Given the description of an element on the screen output the (x, y) to click on. 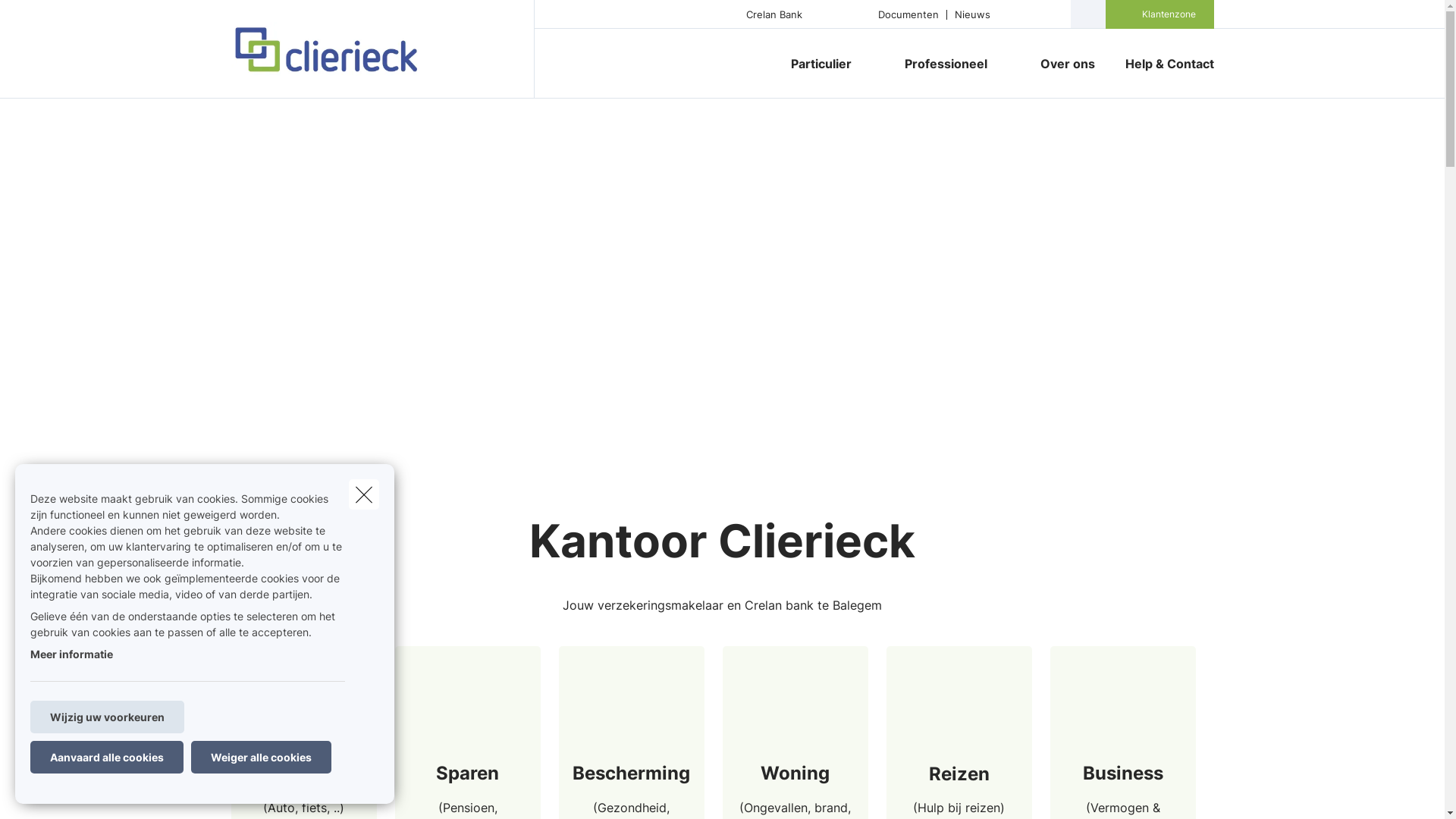
Meer informatie Element type: text (71, 653)
Aanvaard alle cookies Element type: text (106, 756)
Over ons Element type: text (1067, 63)
Professioneel Element type: text (939, 63)
Help & Contact Element type: text (1162, 63)
Reizen
(Hulp bij reizen) Element type: text (958, 790)
Wijzig uw voorkeuren Element type: text (107, 716)
Particulier Element type: text (814, 63)
Klantenzone Element type: text (1168, 14)
Weiger alle cookies Element type: text (261, 756)
Zoeken Element type: text (42, 18)
Crelan Bank Element type: text (773, 13)
Mobiliteit
(Auto, fiets, ..) Element type: text (302, 790)
Documenten Element type: text (908, 13)
Klantenzone Element type: text (1159, 14)
Nieuws Element type: text (971, 13)
